Given the description of an element on the screen output the (x, y) to click on. 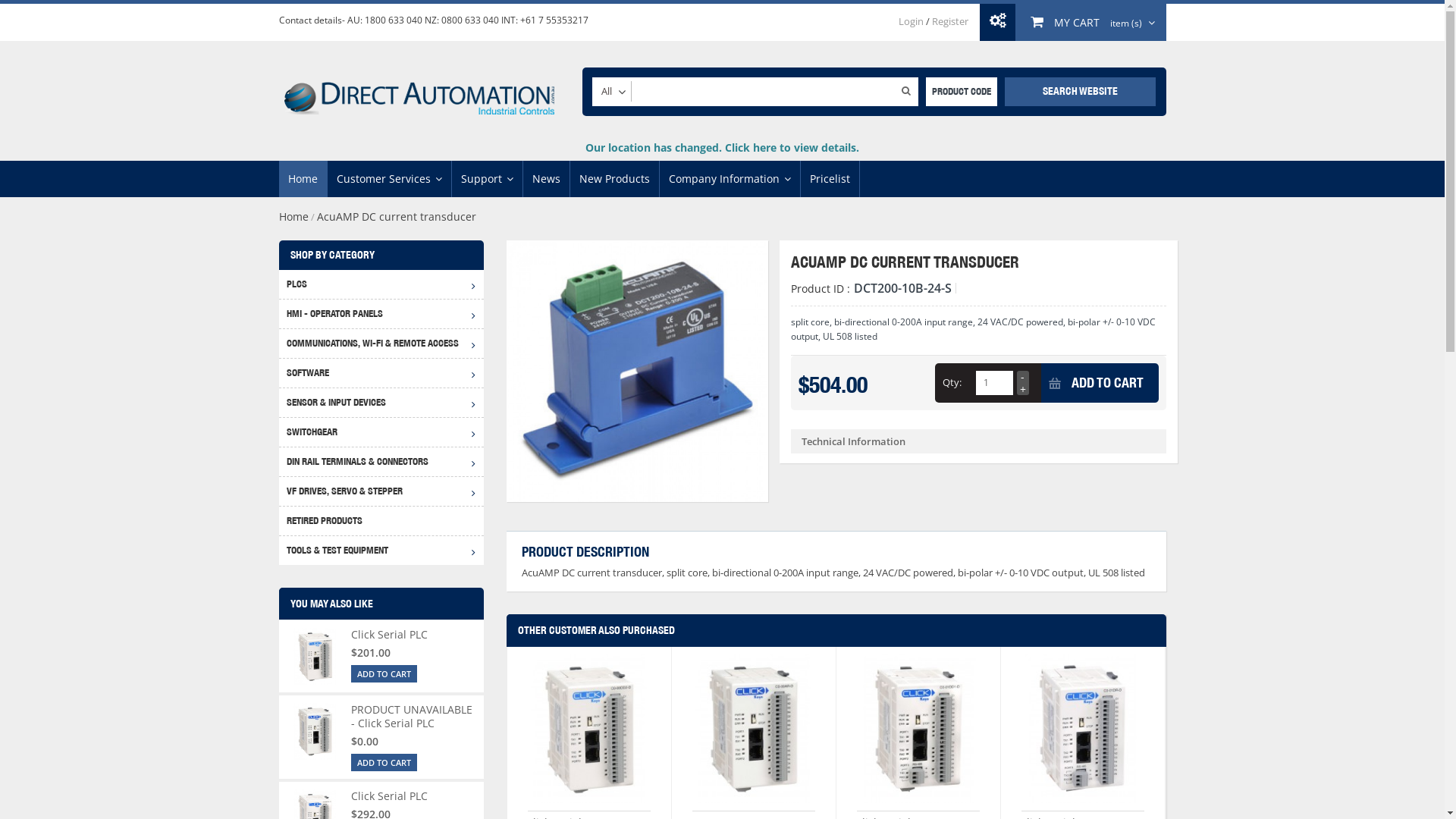
Click Serial PLC Element type: hover (314, 655)
Login Element type: text (909, 21)
PLCS Element type: text (381, 283)
DIN RAIL TERMINALS & CONNECTORS Element type: text (381, 461)
Technical Information Element type: text (977, 441)
HMI - OPERATOR PANELS Element type: text (381, 313)
Click Serial PLC Element type: hover (588, 732)
Home Element type: text (302, 178)
PRODUCT CODE Element type: text (960, 91)
1800 633 040 Element type: text (392, 19)
Register Element type: text (949, 21)
Qty Element type: hover (994, 382)
+ Element type: text (1022, 388)
SEARCH WEBSITE Element type: text (1079, 91)
ADD TO CART Element type: text (1098, 382)
Click Serial PLC Element type: text (388, 634)
0800 633 040 Element type: text (469, 19)
PRODUCT UNAVAILABLE - Click Serial PLC Element type: hover (314, 730)
- Element type: text (1022, 376)
VF DRIVES, SERVO & STEPPER Element type: text (381, 490)
Support Element type: text (486, 178)
RETIRED PRODUCTS Element type: text (381, 520)
ADD TO CART Element type: text (383, 762)
+61 7 55353217 Element type: text (554, 19)
SWITCHGEAR Element type: text (381, 431)
COMMUNICATIONS, WI-FI & REMOTE ACCESS Element type: text (381, 342)
TOOLS & TEST EQUIPMENT Element type: text (381, 549)
Direct Automation Element type: hover (419, 90)
New Products Element type: text (614, 178)
PRODUCT UNAVAILABLE - Click Serial PLC Element type: text (410, 716)
Customer Services Element type: text (389, 178)
Company Information Element type: text (729, 178)
Click Serial PLC Element type: text (388, 795)
Home Element type: text (293, 216)
Click Serial PLC Element type: hover (918, 732)
SOFTWARE Element type: text (381, 372)
Search Element type: hover (905, 89)
Click Serial PLC Element type: hover (1082, 732)
PRODUCT UNAVAILABLE - Click Serial PLC Element type: hover (753, 732)
Pricelist Element type: text (829, 178)
AcuAMP DC current transducer Element type: hover (637, 371)
News Element type: text (546, 178)
SENSOR & INPUT DEVICES Element type: text (381, 402)
Our location has changed. Click here to view details. Element type: text (722, 147)
ADD TO CART Element type: text (383, 673)
MY CART item (s) Element type: text (1090, 22)
